Given the description of an element on the screen output the (x, y) to click on. 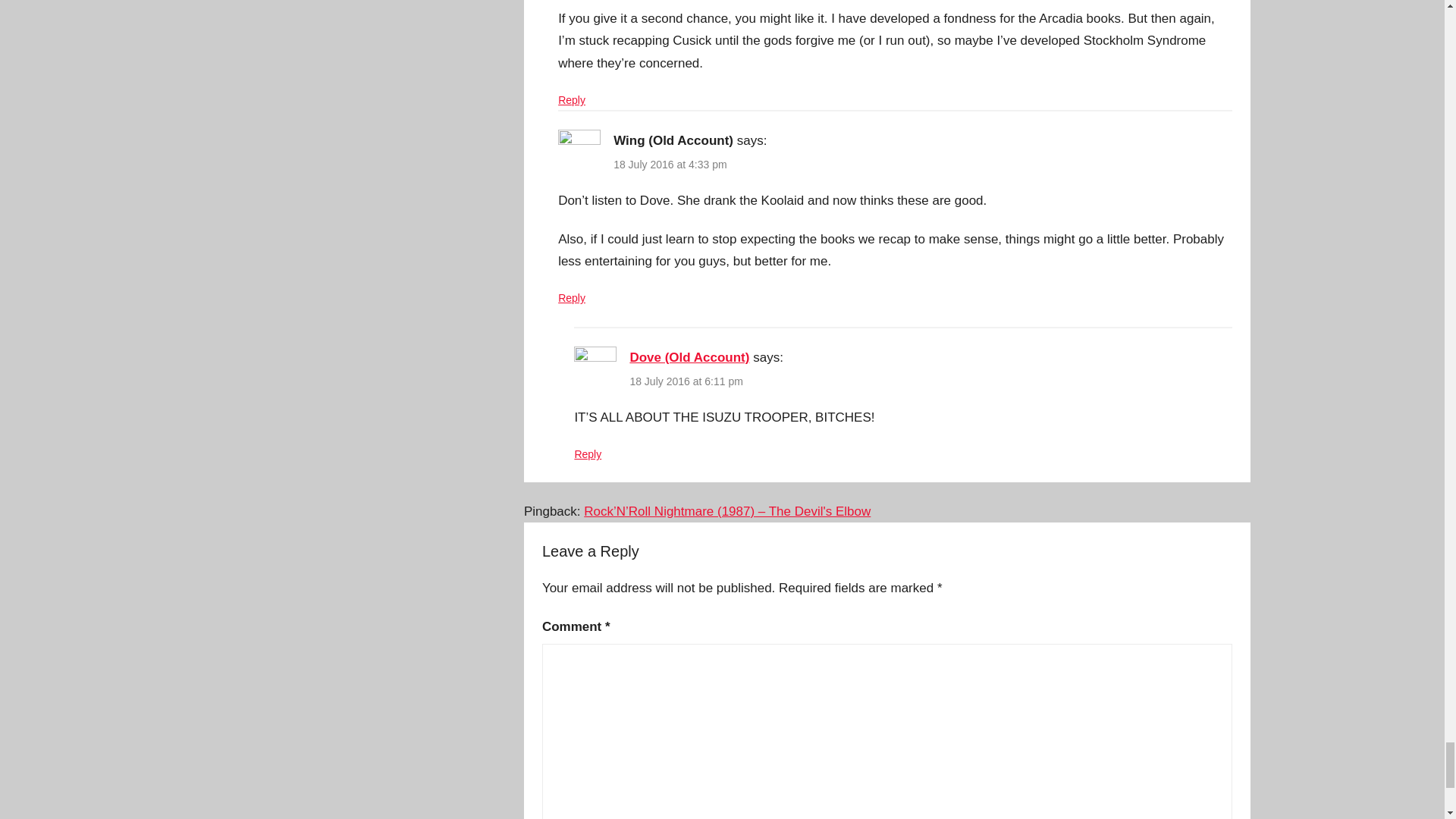
18 July 2016 at 4:33 pm (669, 164)
Reply (571, 297)
Reply (571, 100)
